Given the description of an element on the screen output the (x, y) to click on. 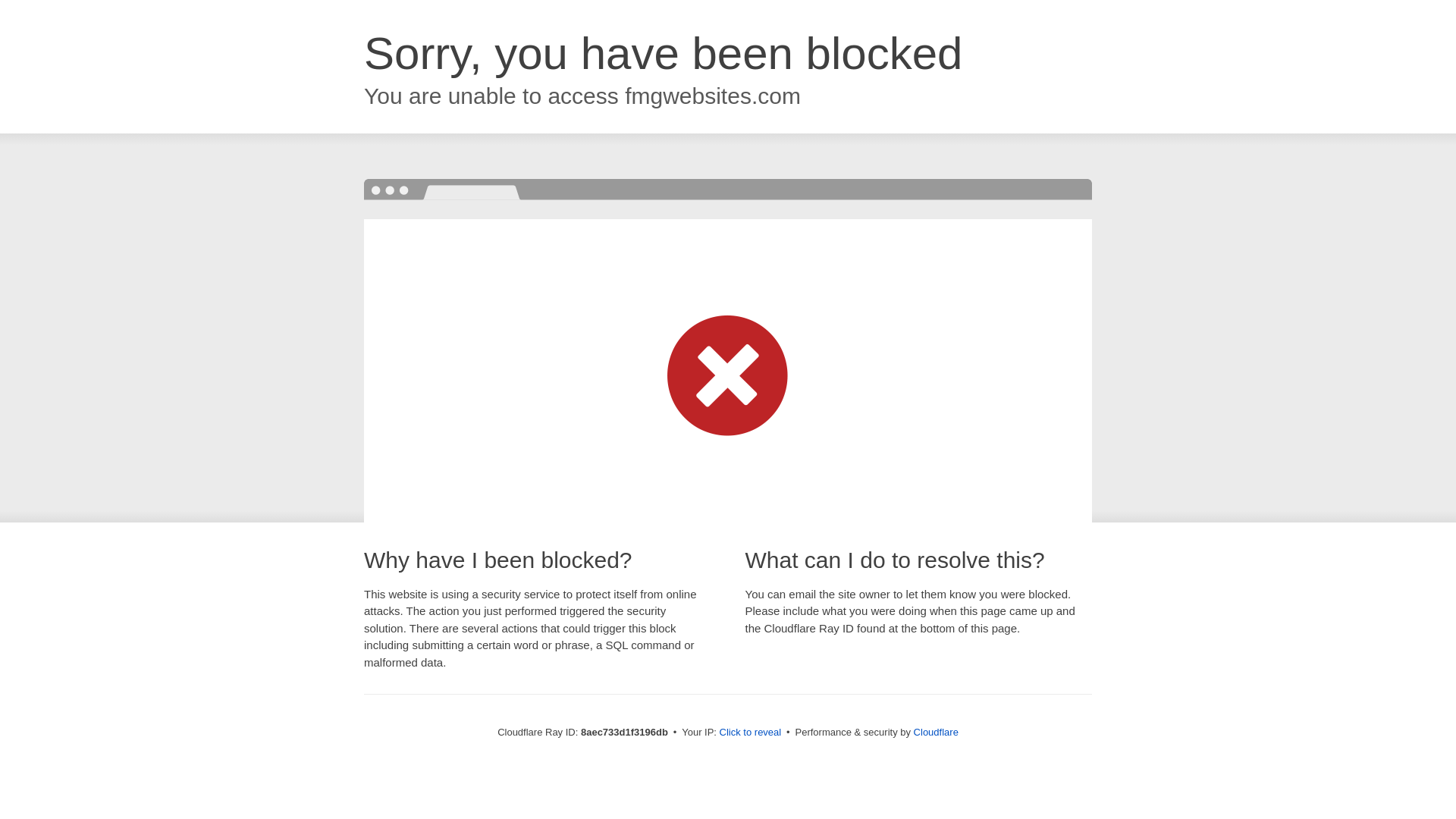
Cloudflare (936, 731)
Click to reveal (750, 732)
